Given the description of an element on the screen output the (x, y) to click on. 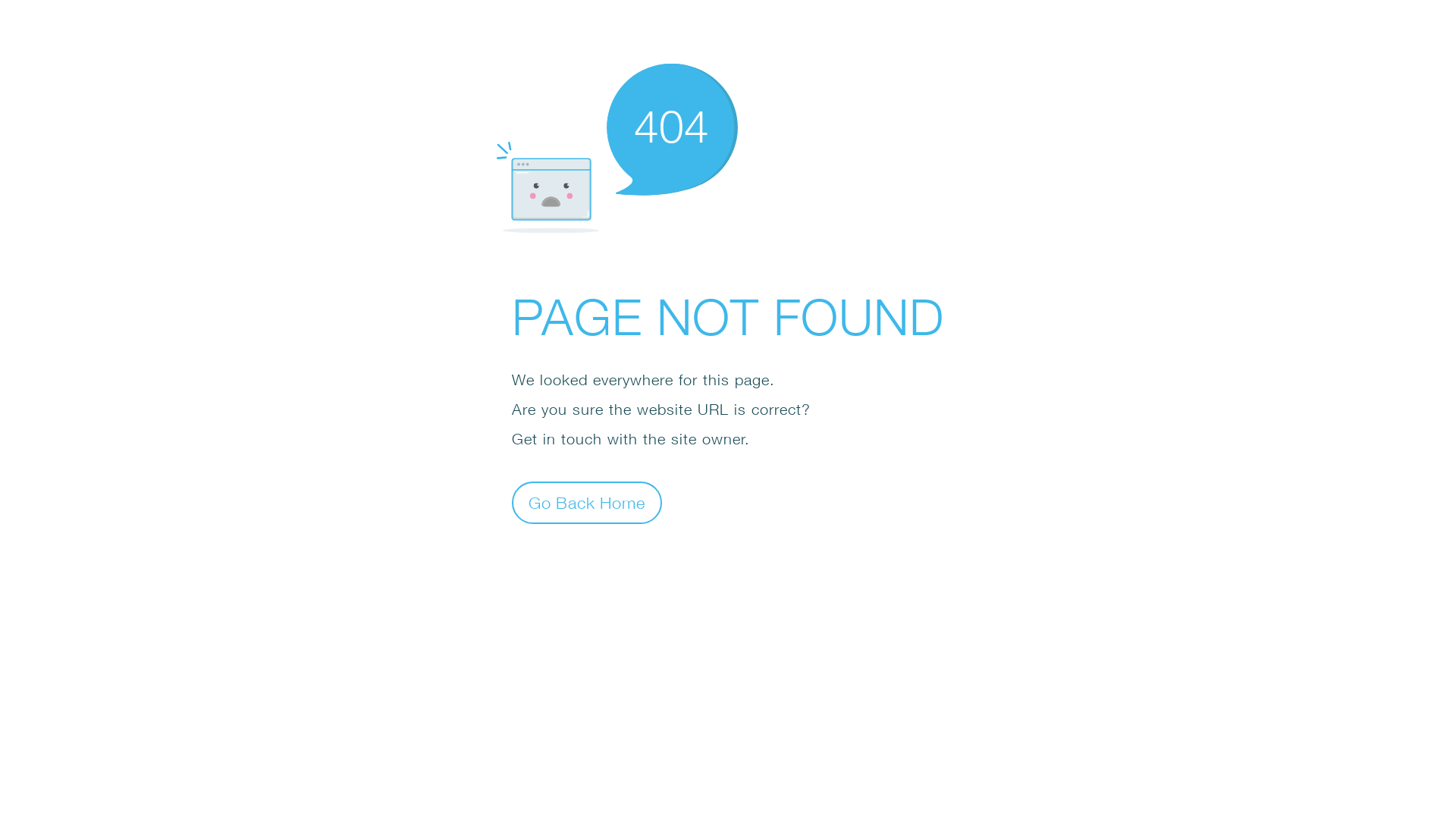
Go Back Home Element type: text (586, 502)
